Given the description of an element on the screen output the (x, y) to click on. 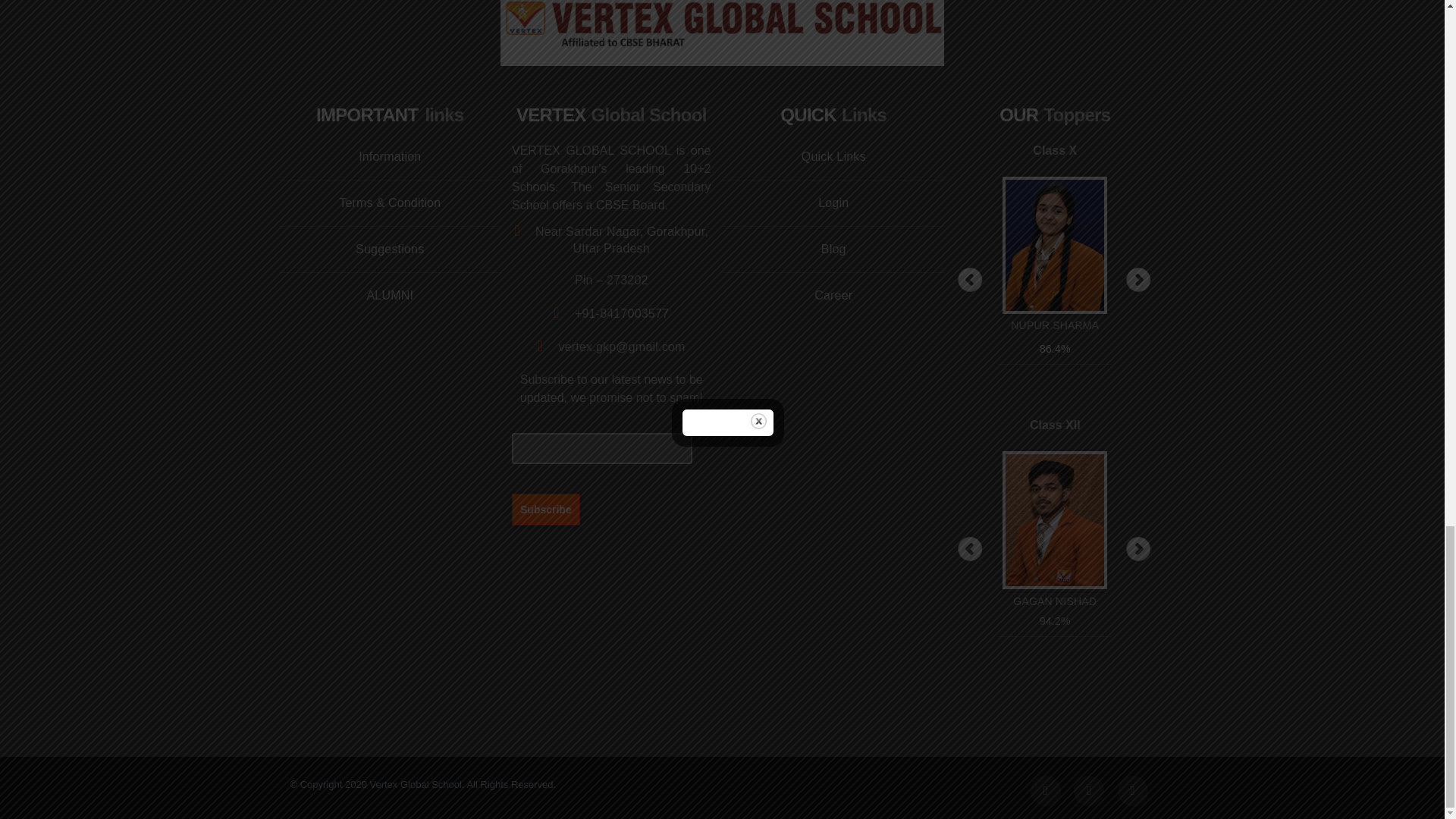
Subscribe (545, 508)
